Given the description of an element on the screen output the (x, y) to click on. 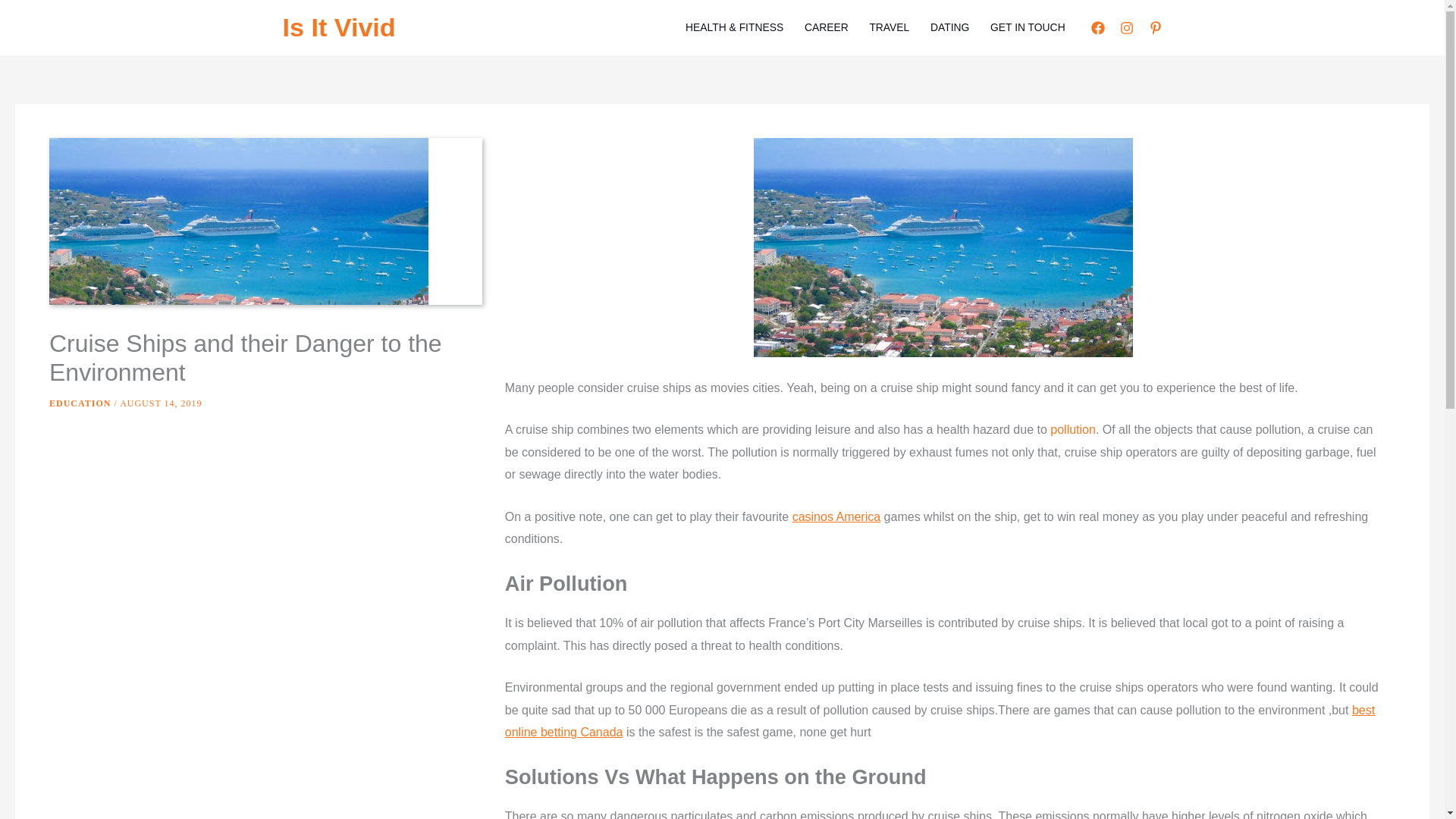
Is It Vivid (338, 27)
best online betting Canada (939, 721)
GET IN TOUCH (1027, 27)
TRAVEL (889, 27)
DATING (949, 27)
casinos America (836, 516)
EDUCATION (79, 403)
pollution (1072, 429)
CAREER (826, 27)
